Given the description of an element on the screen output the (x, y) to click on. 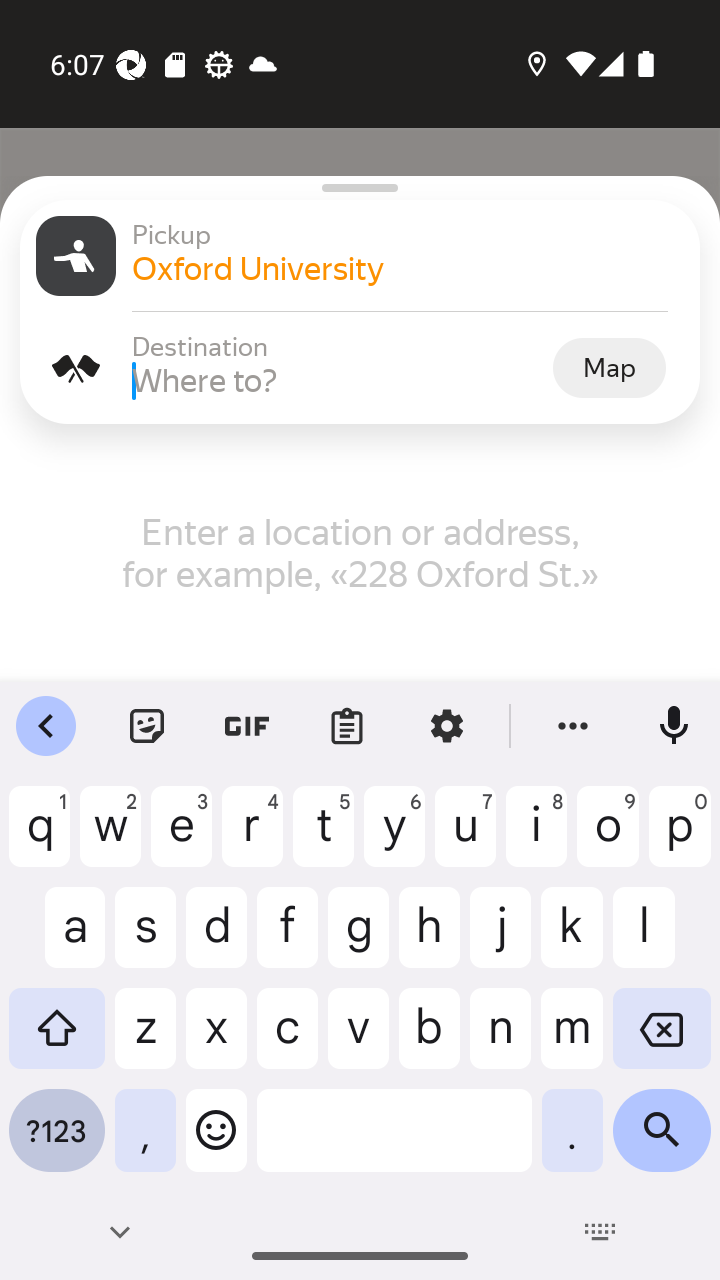
Pickup Pickup Oxford University (359, 255)
Oxford University (407, 268)
Destination Destination Where to? Map (359, 367)
Map (609, 367)
Where to? (340, 380)
